Given the description of an element on the screen output the (x, y) to click on. 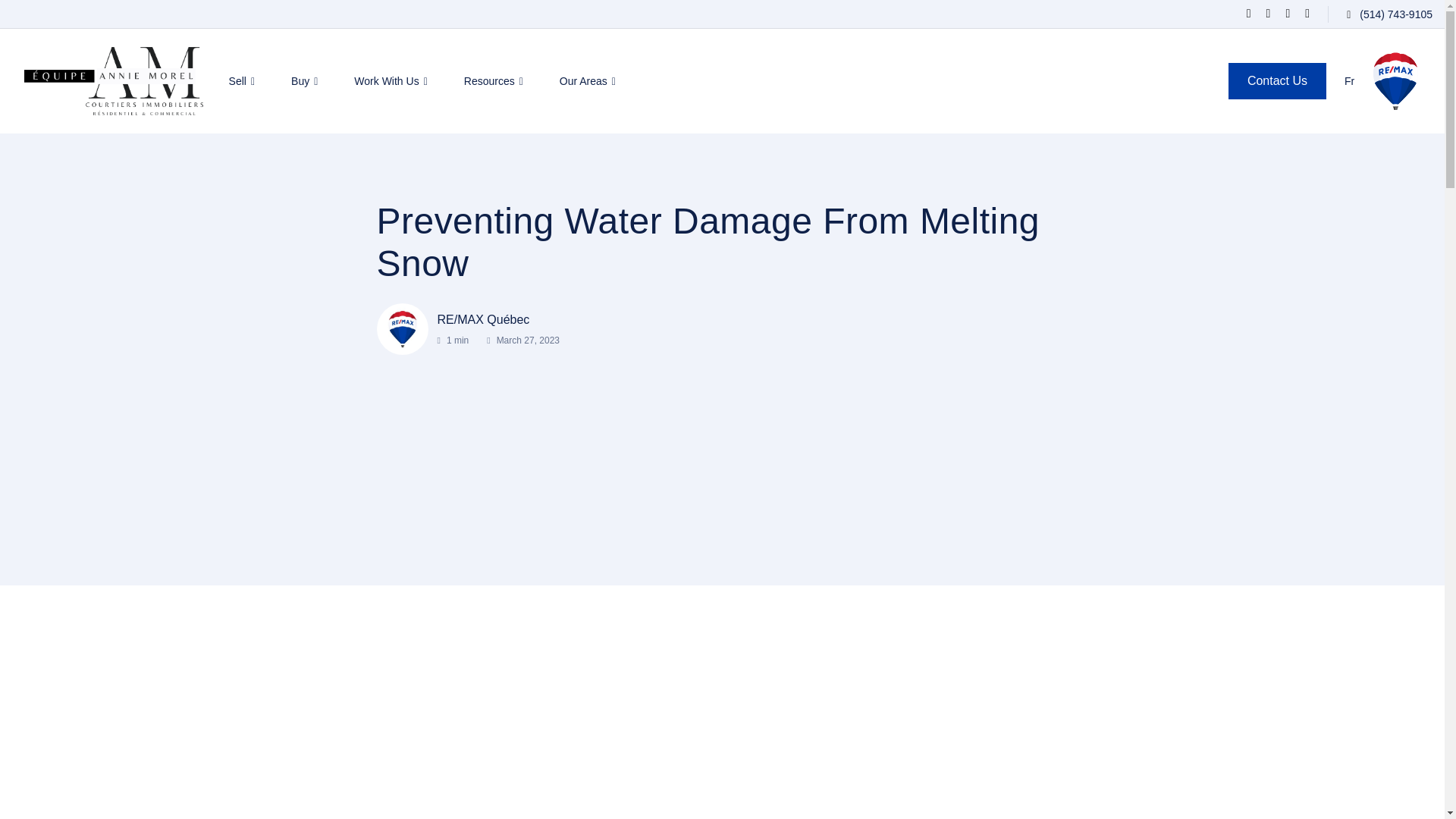
Contact Us (1277, 81)
